Given the description of an element on the screen output the (x, y) to click on. 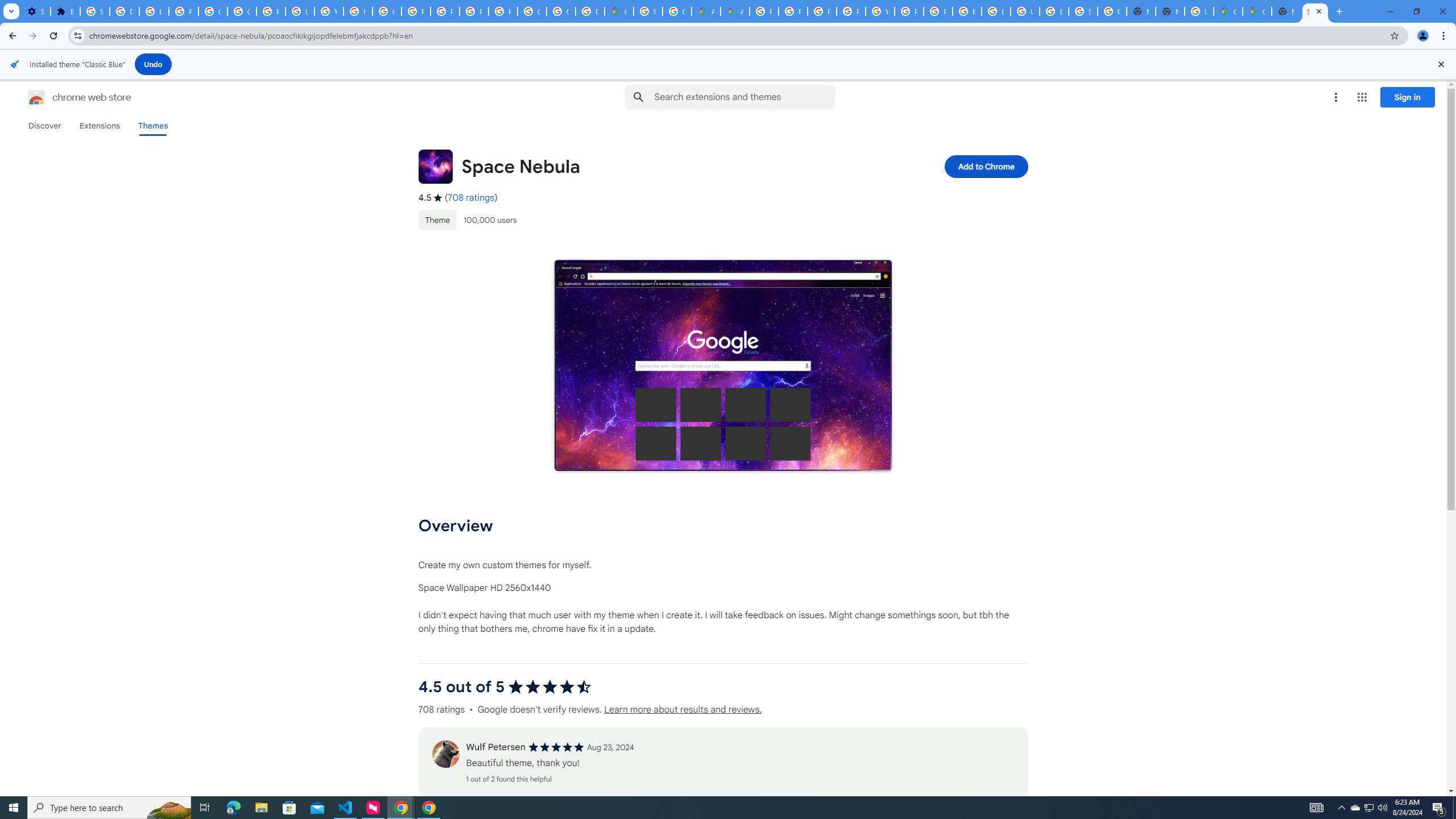
Forward (32, 35)
Review's profile picture (445, 754)
Google Account Help (242, 11)
Learn how to find your photos - Google Photos Help (153, 11)
